Given the description of an element on the screen output the (x, y) to click on. 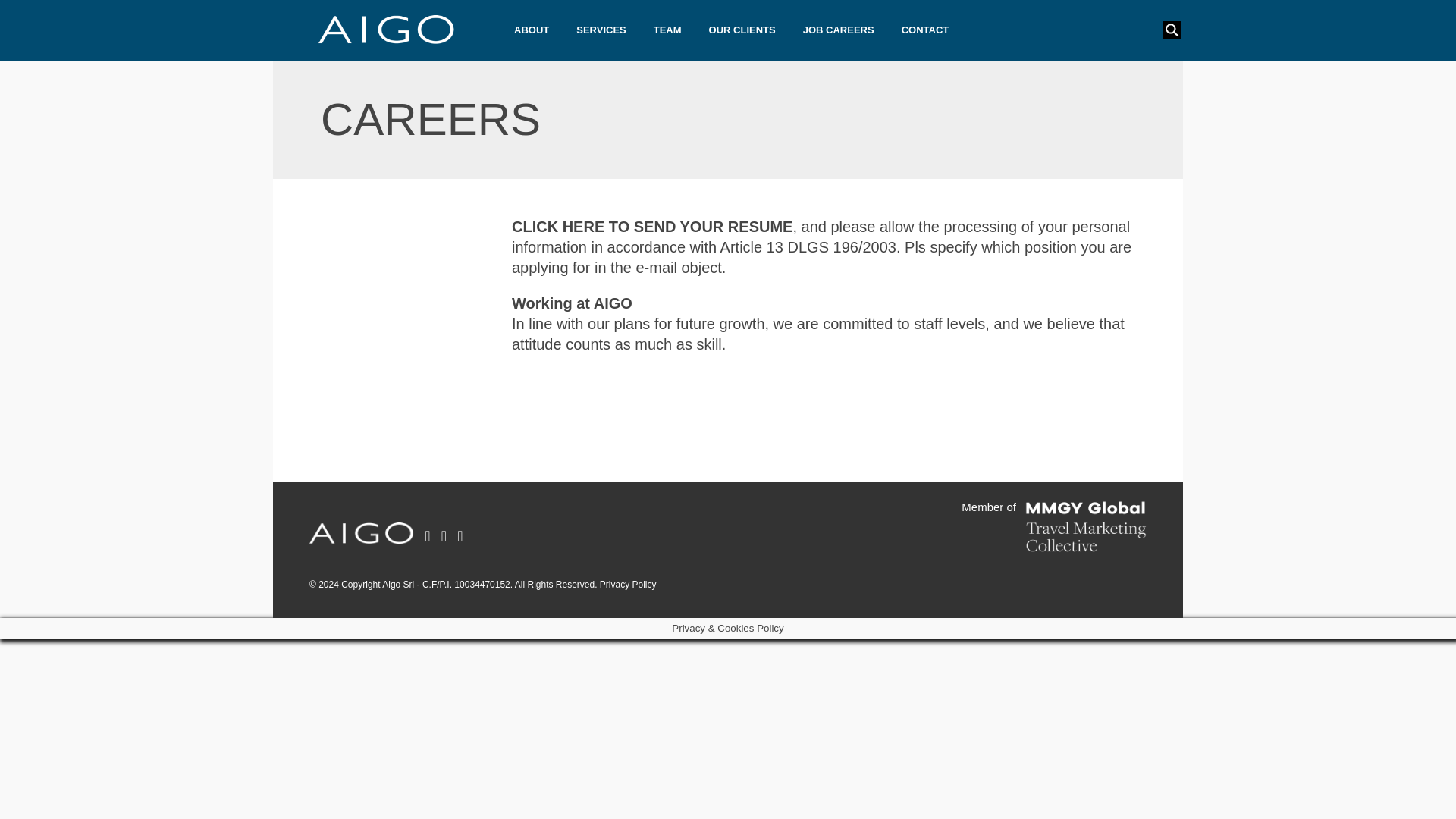
OUR CLIENTS (742, 30)
Privacy Policy (627, 584)
ABOUT (531, 30)
CONTACT (925, 30)
TEAM (667, 30)
Search (24, 8)
Search for: (1167, 29)
SERVICES (601, 30)
JOB CAREERS (838, 30)
CLICK HERE TO SEND YOUR RESUME (652, 226)
